Given the description of an element on the screen output the (x, y) to click on. 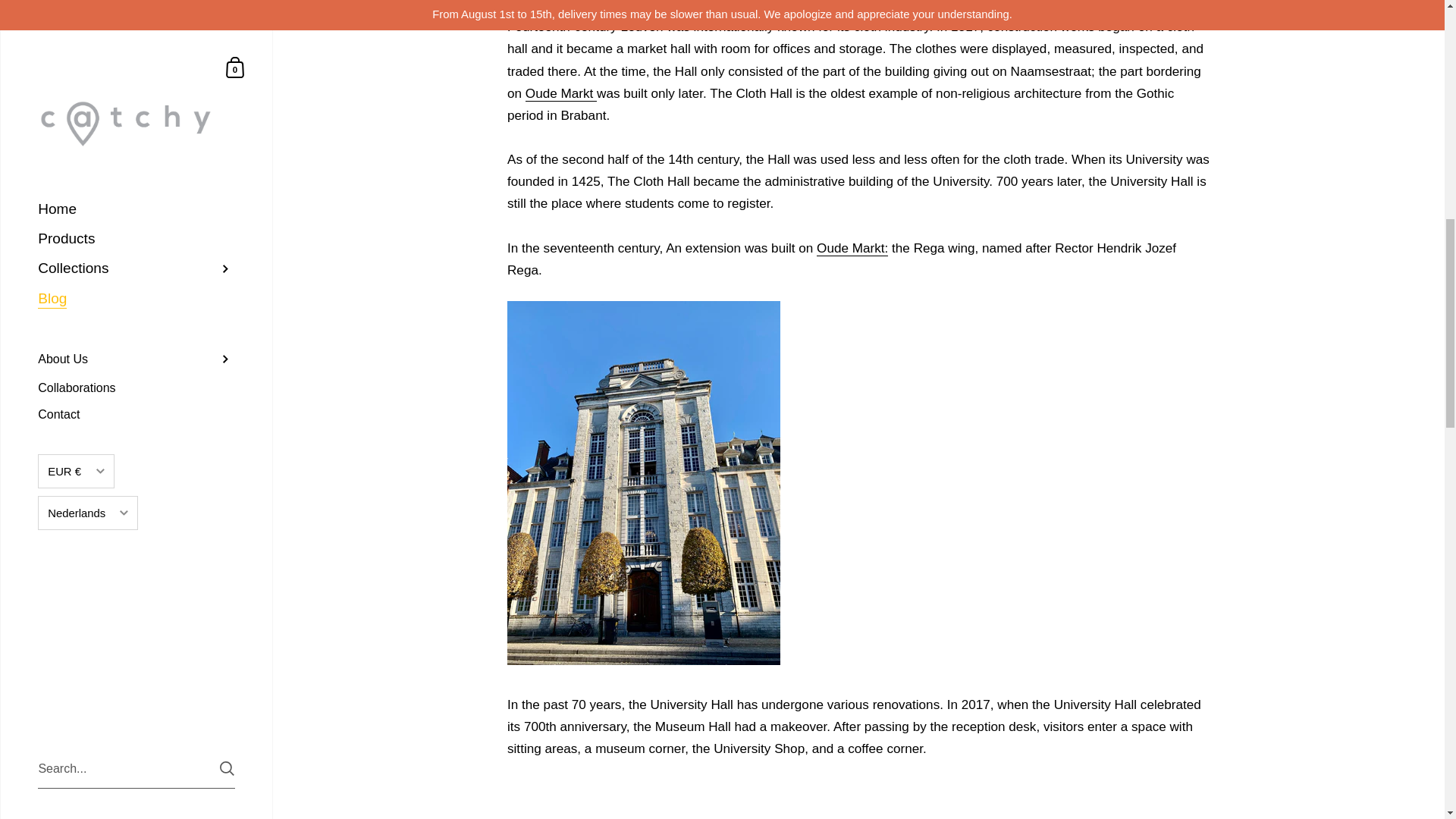
Oude markt poster (560, 93)
Oude Markt Leuven  (852, 248)
Oude Markt (560, 93)
